Given the description of an element on the screen output the (x, y) to click on. 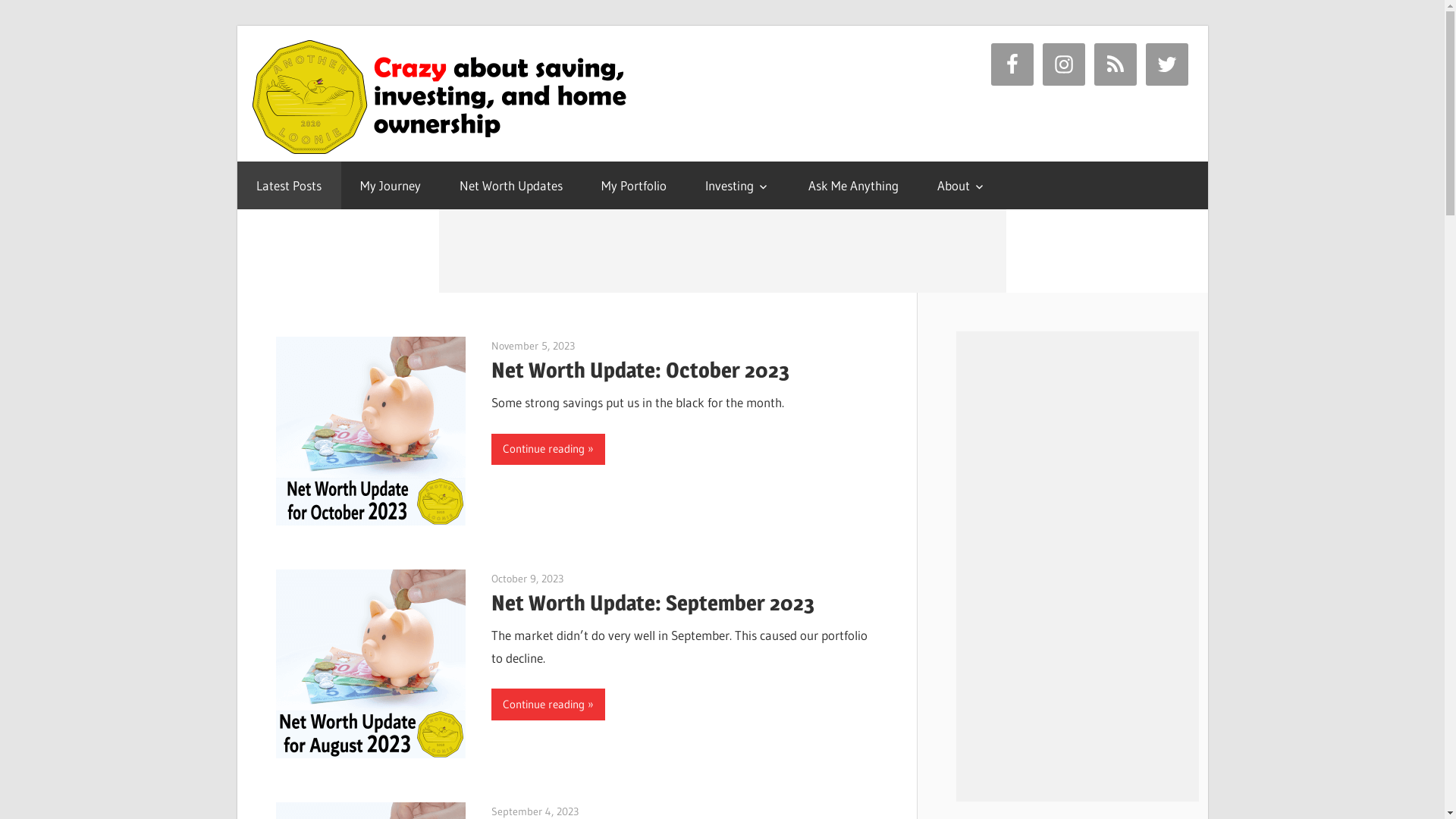
Net Worth Updates Element type: text (510, 184)
My Journey Element type: text (390, 184)
Net Worth Update: September 2023 Element type: text (652, 602)
AnotherLoonie Element type: text (607, 345)
My Portfolio Element type: text (634, 184)
October 9, 2023 Element type: text (527, 578)
AnotherLoonie Element type: text (610, 811)
Ask Me Anything Element type: text (852, 184)
Net Worth Update: October 2023 Element type: text (640, 369)
Continue reading Element type: text (548, 448)
Skip to content Element type: text (236, 25)
September 4, 2023 Element type: text (534, 811)
Investing Element type: text (736, 184)
November 5, 2023 Element type: text (532, 345)
Latest Posts Element type: text (288, 184)
Continue reading Element type: text (548, 703)
AnotherLoonie Element type: text (595, 578)
About Element type: text (960, 184)
